Given the description of an element on the screen output the (x, y) to click on. 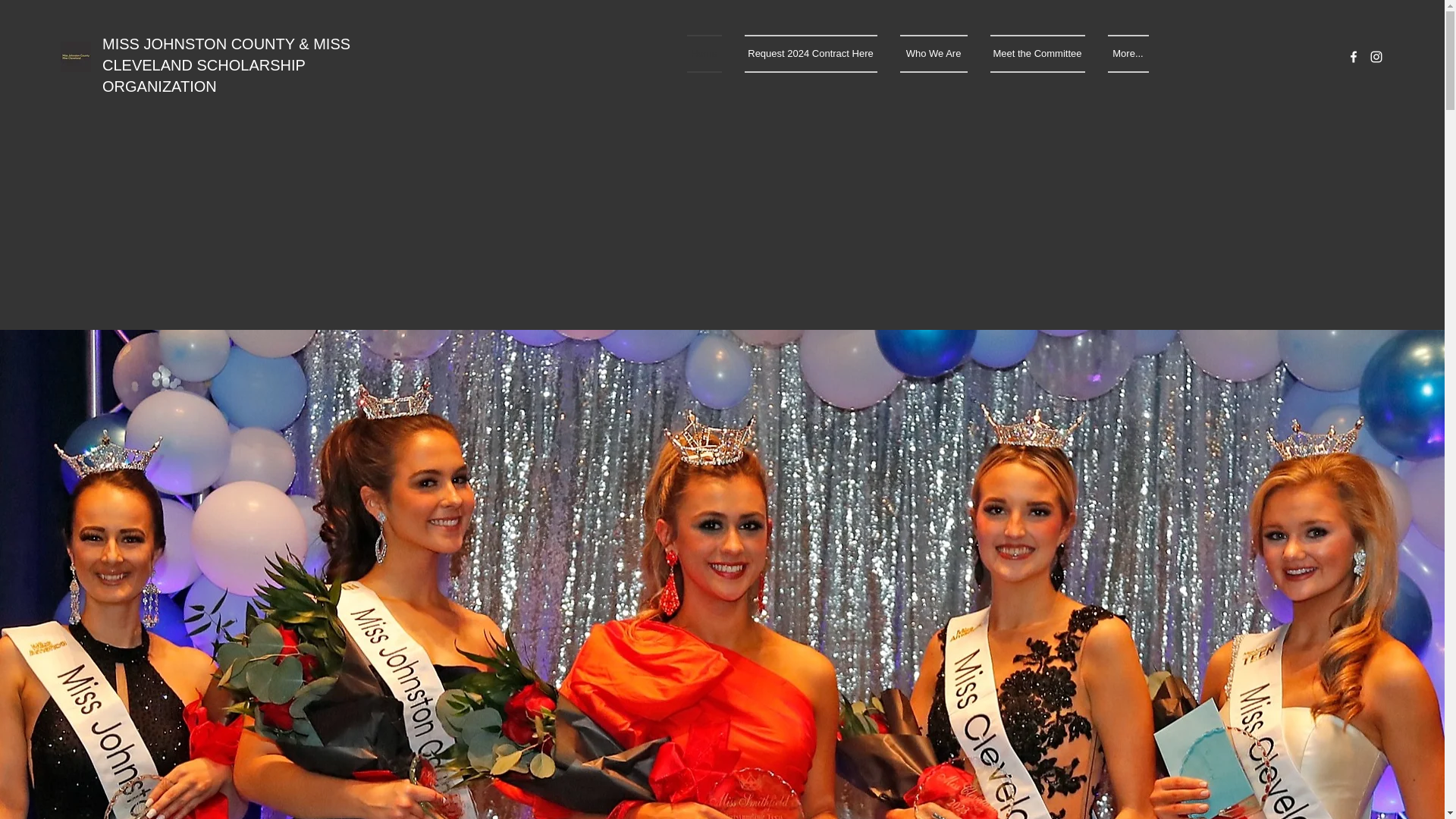
Meet the Committee (1037, 53)
Who We Are (933, 53)
Request 2024 Contract Here (810, 53)
Home (710, 53)
